Given the description of an element on the screen output the (x, y) to click on. 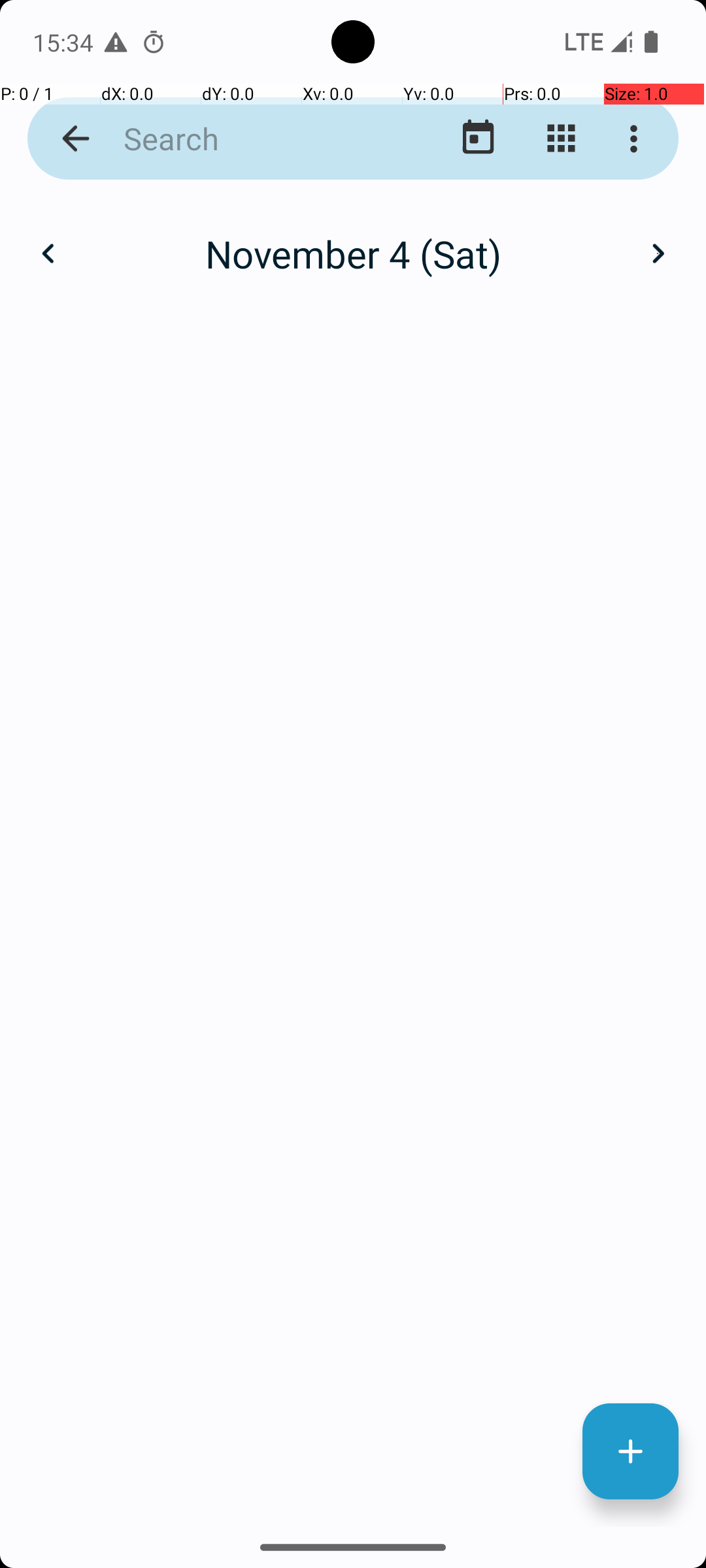
November 4 (Sat) Element type: android.widget.TextView (352, 253)
